Given the description of an element on the screen output the (x, y) to click on. 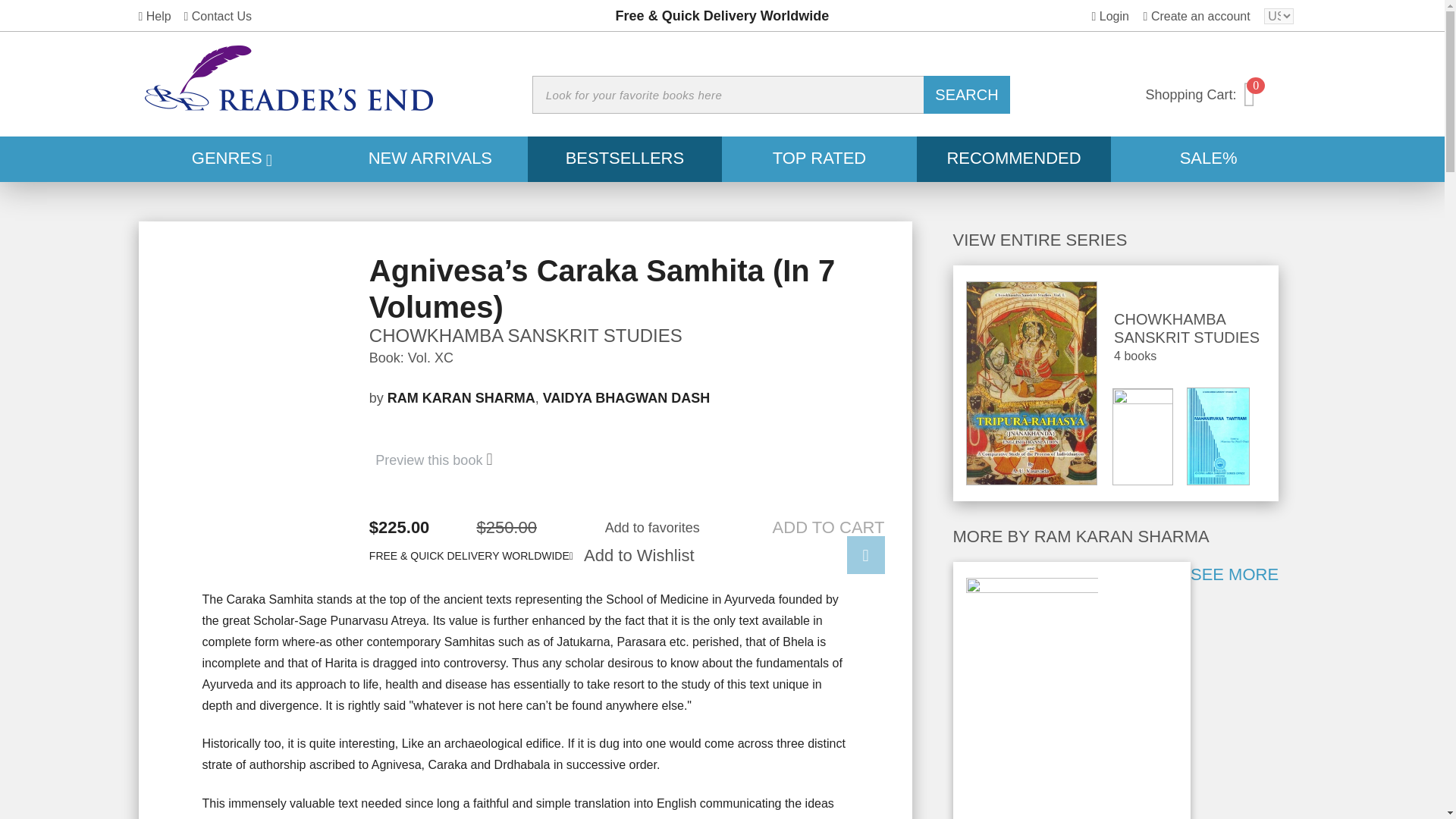
RAM KARAN SHARMA (461, 397)
VAIDYA BHAGWAN DASH (626, 397)
Create an account (1196, 15)
Login (1110, 15)
RECOMMENDED (1014, 158)
Contact Us (216, 15)
CHOWKHAMBA SANSKRIT STUDIES (627, 336)
Login (1110, 15)
NEW ARRIVALS (430, 158)
TOP RATED (819, 158)
